Given the description of an element on the screen output the (x, y) to click on. 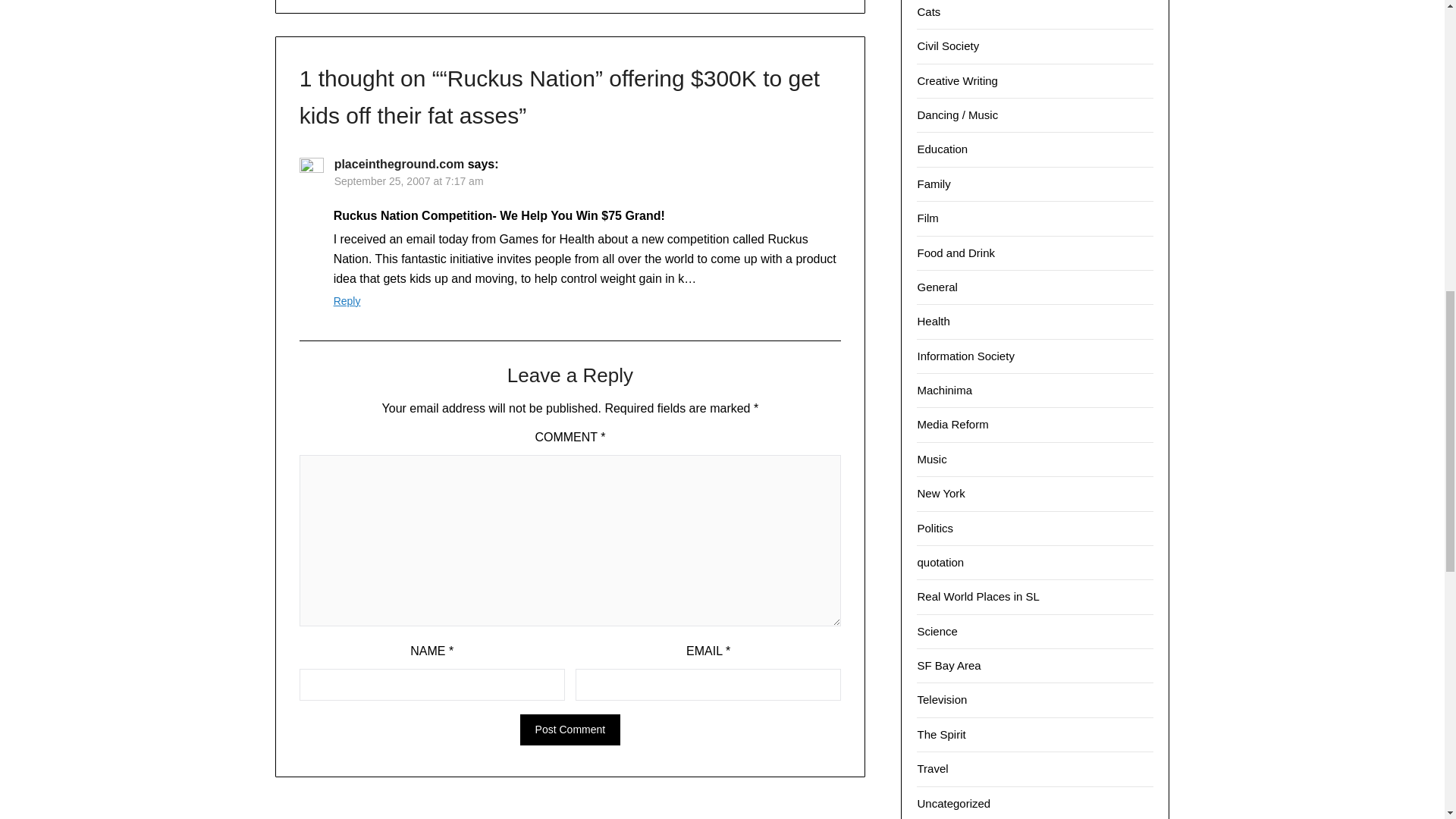
Cats (928, 11)
Family (933, 183)
September 25, 2007 at 7:17 am (408, 181)
Post Comment (570, 729)
Reply (347, 300)
Education (942, 148)
Civil Society (947, 45)
Post Comment (570, 729)
Creative Writing (957, 80)
placeintheground.com (399, 164)
